Given the description of an element on the screen output the (x, y) to click on. 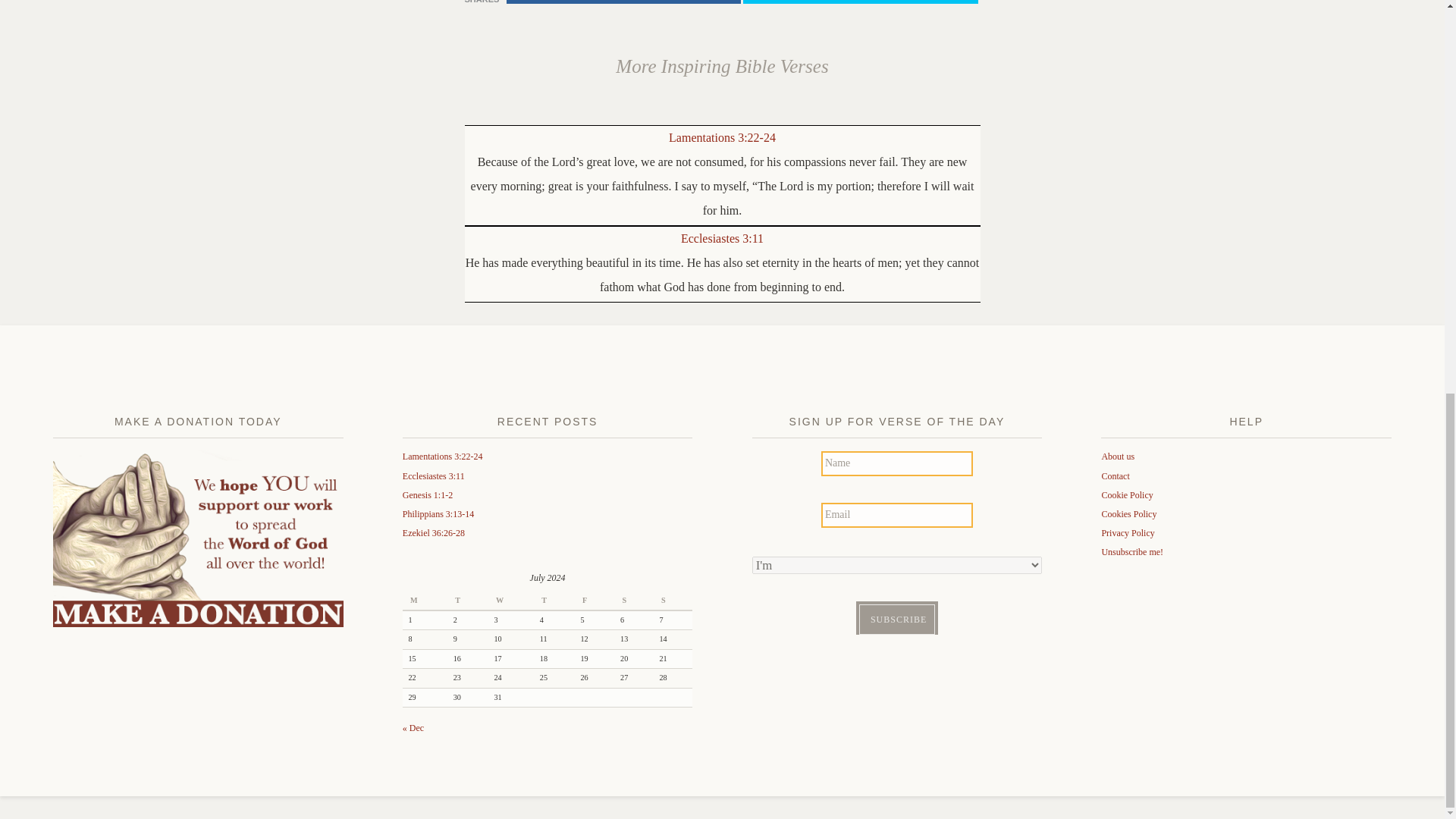
Ecclesiastes 3:11 (721, 237)
Ezekiel 36:26-28 (433, 532)
Ecclesiastes 3:11 (721, 237)
Ecclesiastes 3:11 (433, 475)
Monday (424, 601)
Unsubscribe me! (1131, 552)
Cookies Policy (1128, 513)
Genesis 1:1-2 (427, 494)
Philippians 3:13-14 (438, 513)
Lamentations 3:22-24 (722, 137)
Tuesday (466, 601)
Thursday (554, 601)
Friday (594, 601)
Subscribe (896, 619)
Share (623, 2)
